Given the description of an element on the screen output the (x, y) to click on. 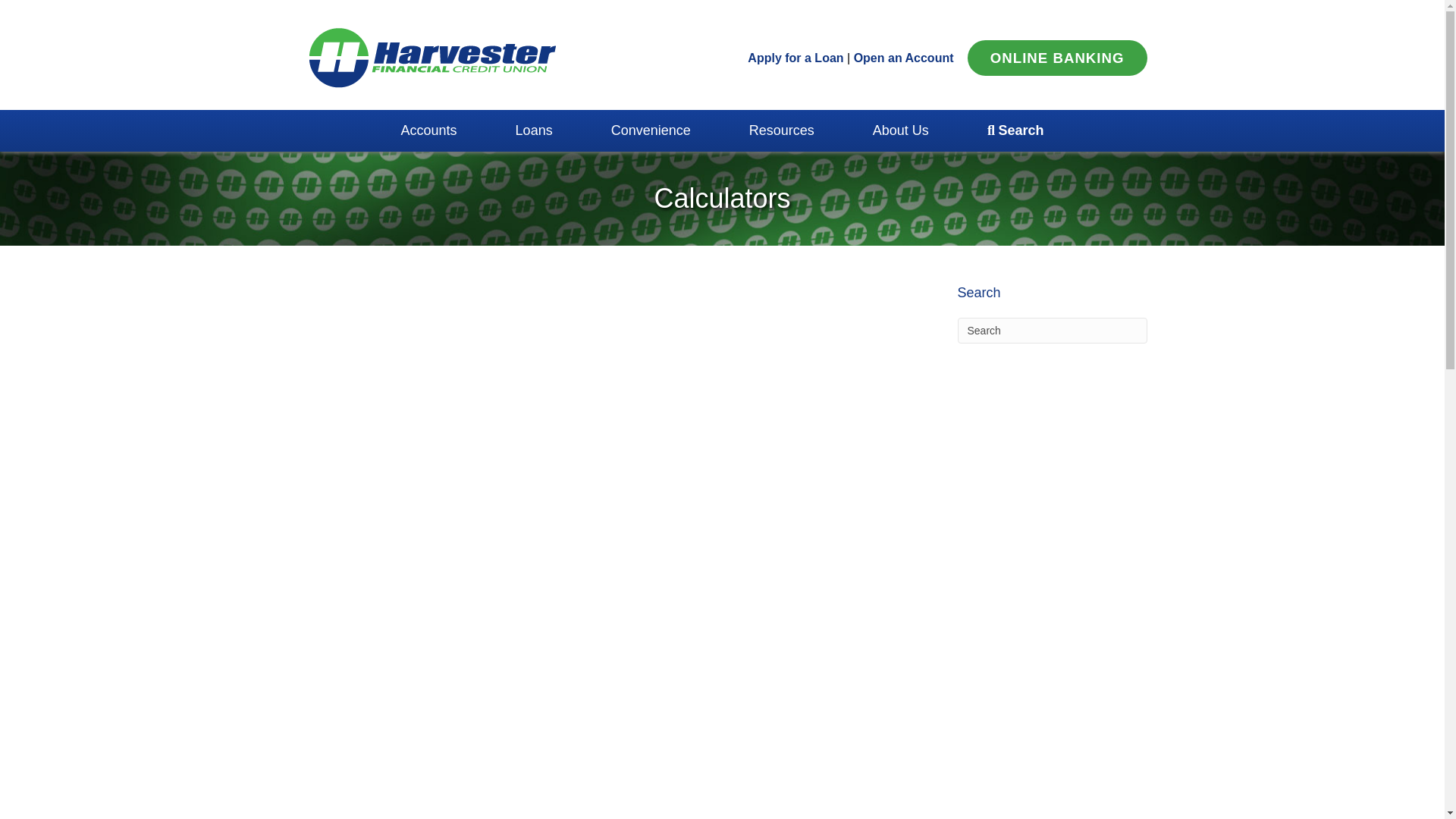
Open an Account (903, 57)
Accounts (428, 130)
Loans (534, 130)
Apply for a Loan (795, 57)
Convenience (651, 130)
Resources (781, 130)
Search (1051, 330)
ONLINE BANKING (1057, 57)
Search (1051, 330)
search (1015, 130)
Type and press Enter to search. (1051, 330)
